Given the description of an element on the screen output the (x, y) to click on. 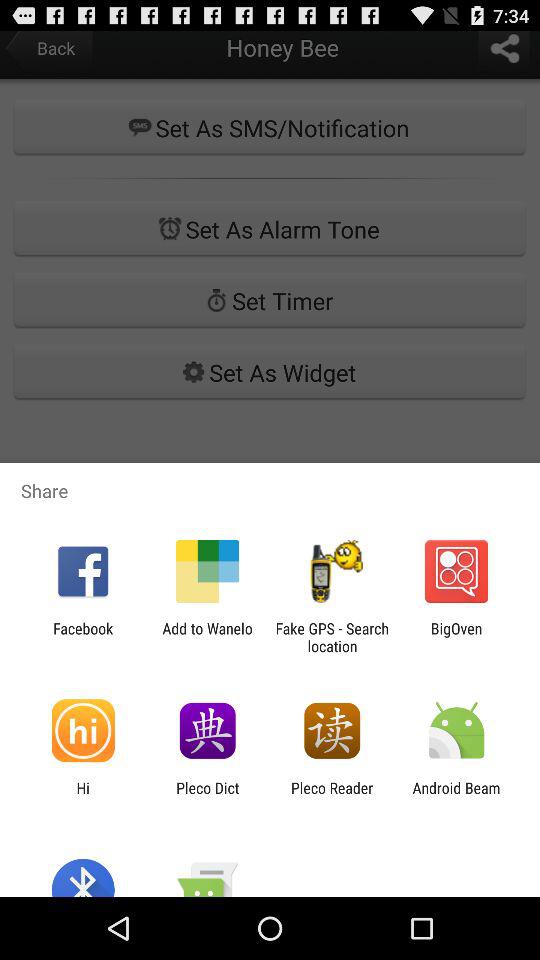
turn on the pleco dict app (207, 796)
